Given the description of an element on the screen output the (x, y) to click on. 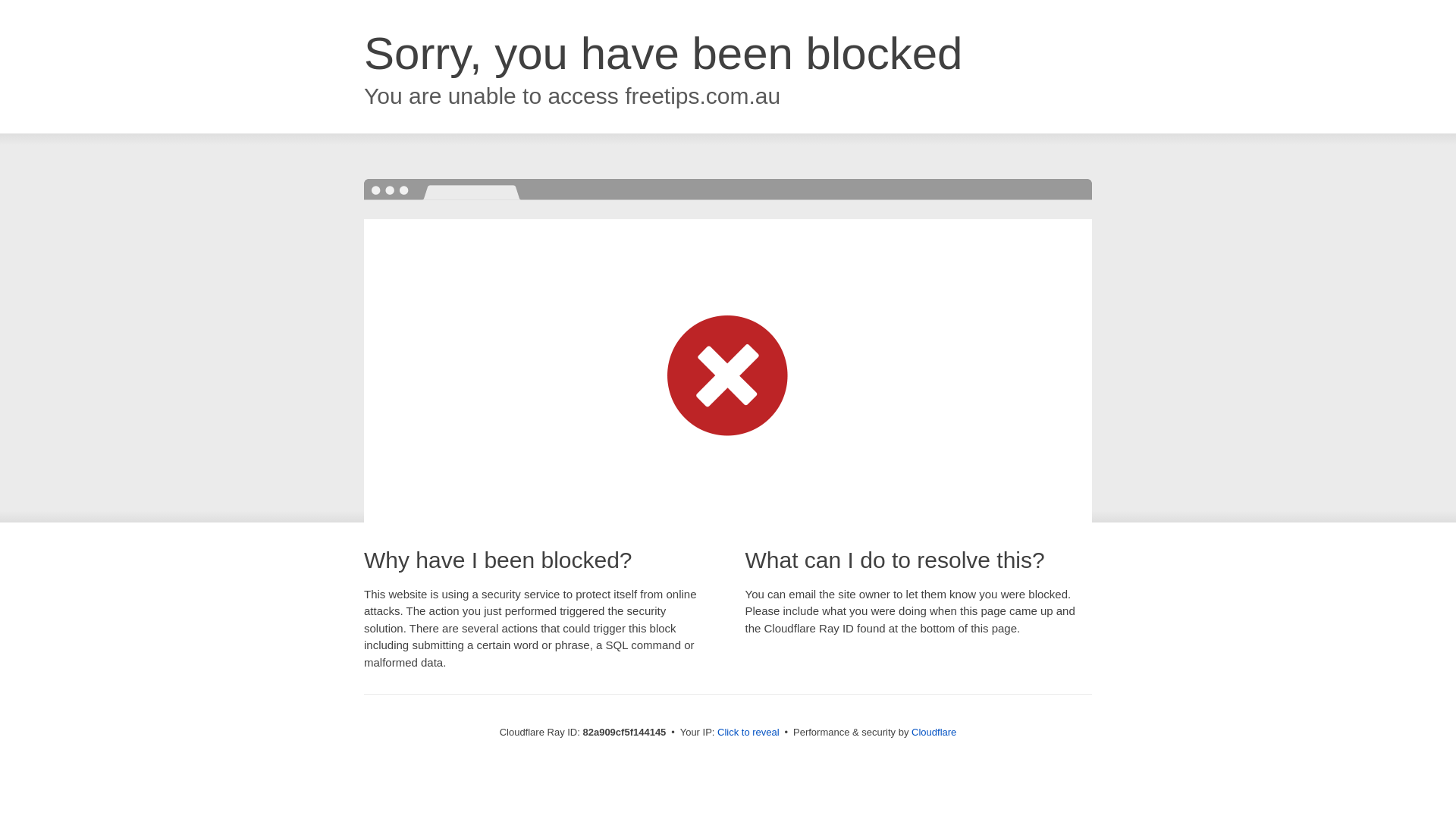
Click to reveal Element type: text (748, 732)
Cloudflare Element type: text (933, 731)
